Given the description of an element on the screen output the (x, y) to click on. 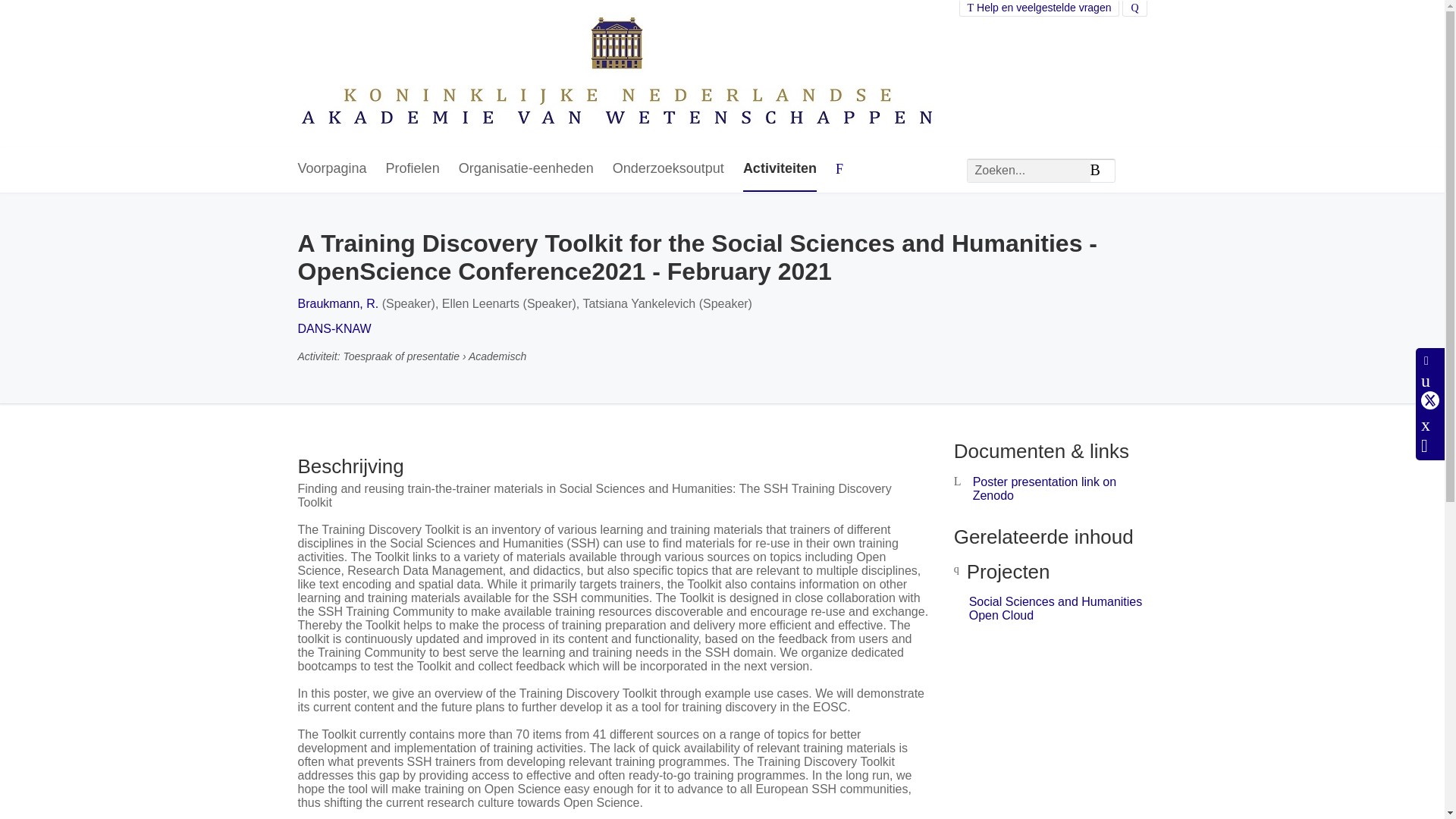
Activiteiten (779, 169)
X (1430, 400)
Poster presentation link on Zenodo (1044, 488)
Social Sciences and Humanities Open Cloud (1055, 608)
Braukmann, R. (337, 303)
Profielen (412, 169)
Organisatie-eenheden (526, 169)
Help en veelgestelde vragen (1039, 7)
Onderzoeksoutput (667, 169)
DANS-KNAW (334, 328)
Voorpagina (331, 169)
